Given the description of an element on the screen output the (x, y) to click on. 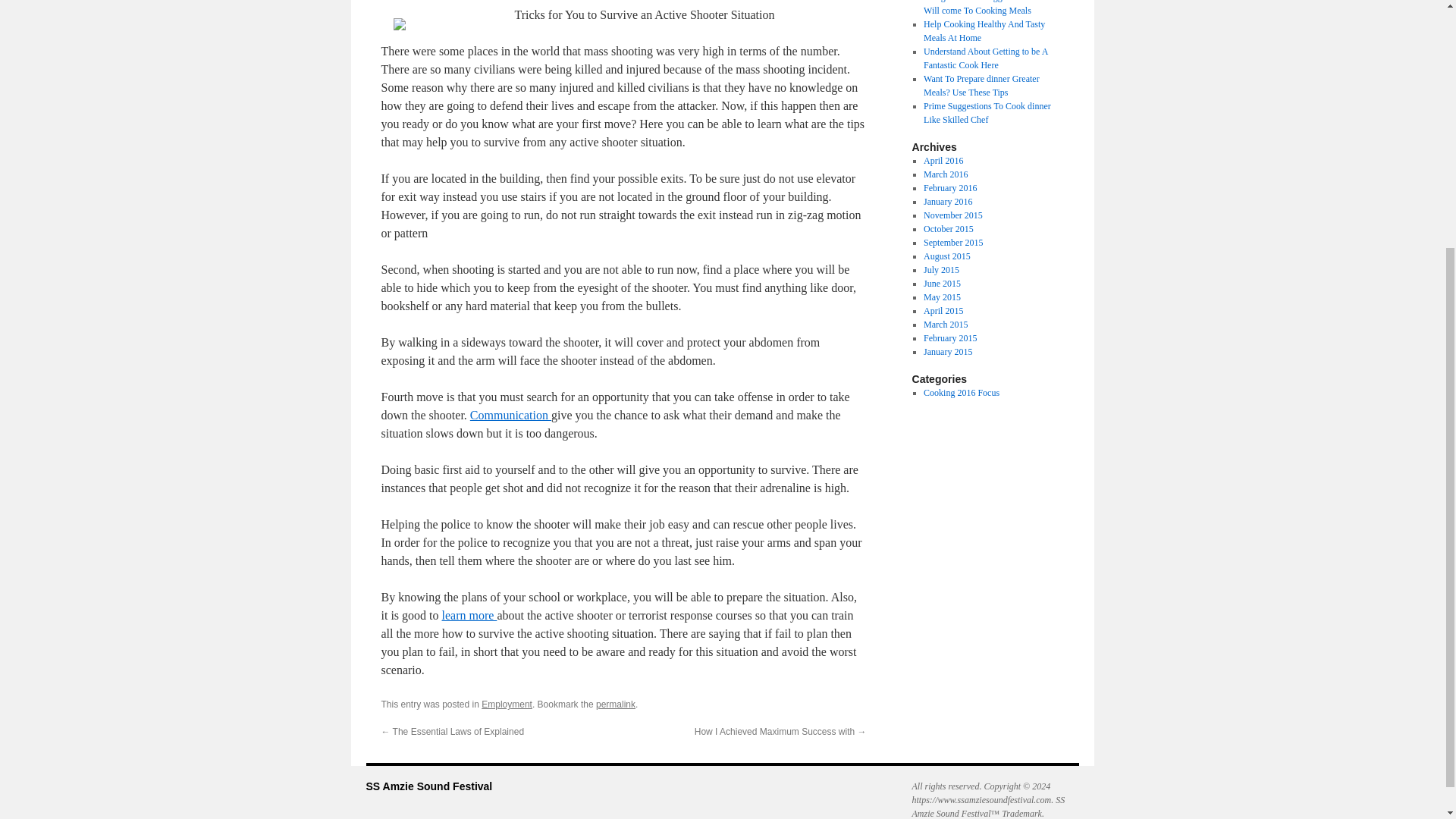
Want To Prepare dinner Greater Meals? Use These Tips (981, 85)
April 2015 (942, 310)
Understand About Getting to be A Fantastic Cook Here (985, 57)
January 2015 (947, 351)
November 2015 (952, 214)
Communication (510, 414)
June 2015 (941, 283)
SS Amzie Sound Festival (428, 786)
March 2016 (945, 173)
August 2015 (947, 255)
Cooking 2016 Focus (960, 392)
May 2015 (941, 296)
July 2015 (941, 269)
Employment (506, 704)
March 2015 (945, 324)
